Given the description of an element on the screen output the (x, y) to click on. 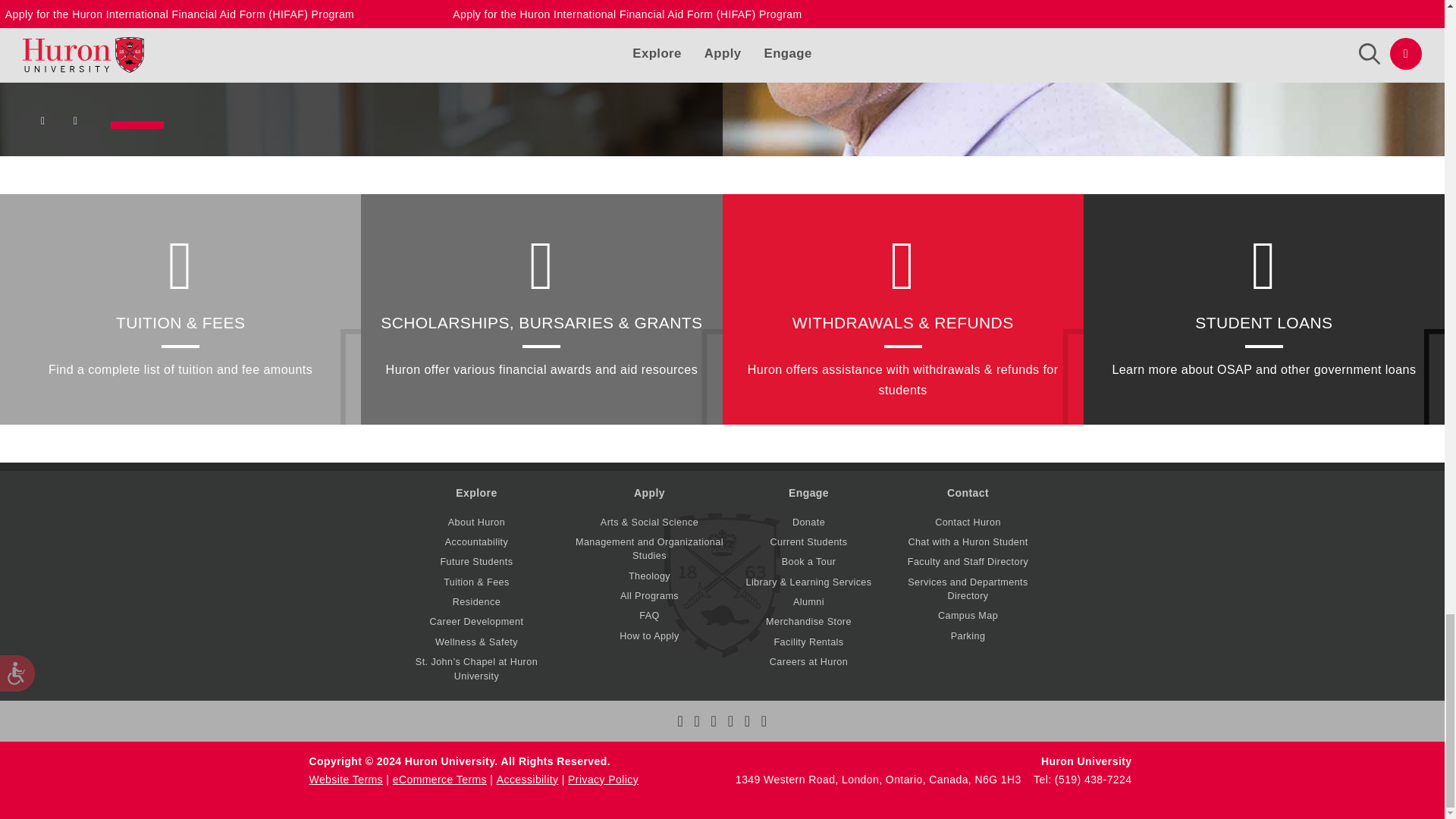
Start (44, 124)
1 (136, 124)
Stop (77, 124)
READ MORE (360, 17)
